Given the description of an element on the screen output the (x, y) to click on. 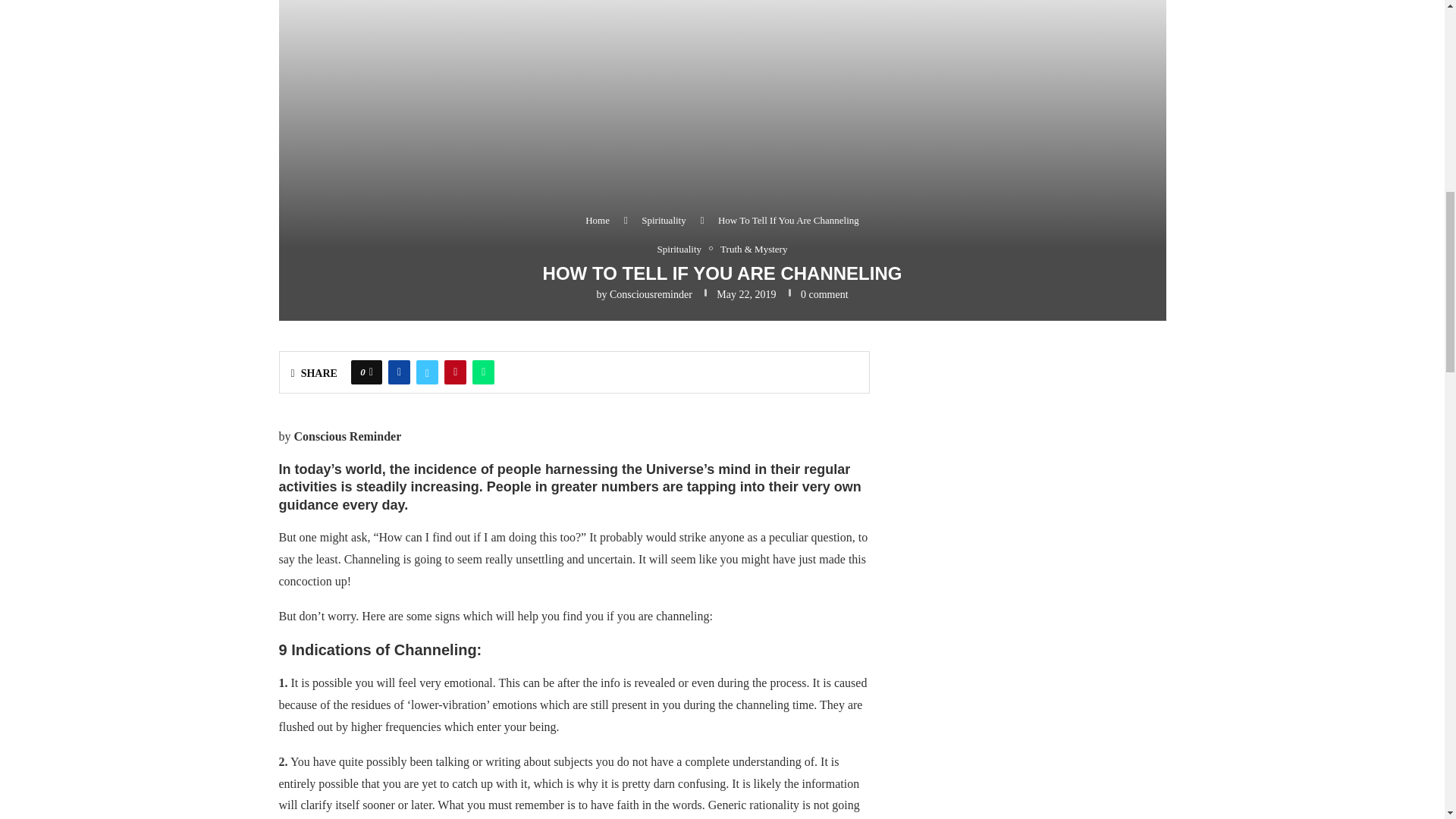
Spirituality (663, 220)
Spirituality (684, 249)
Home (597, 220)
